Given the description of an element on the screen output the (x, y) to click on. 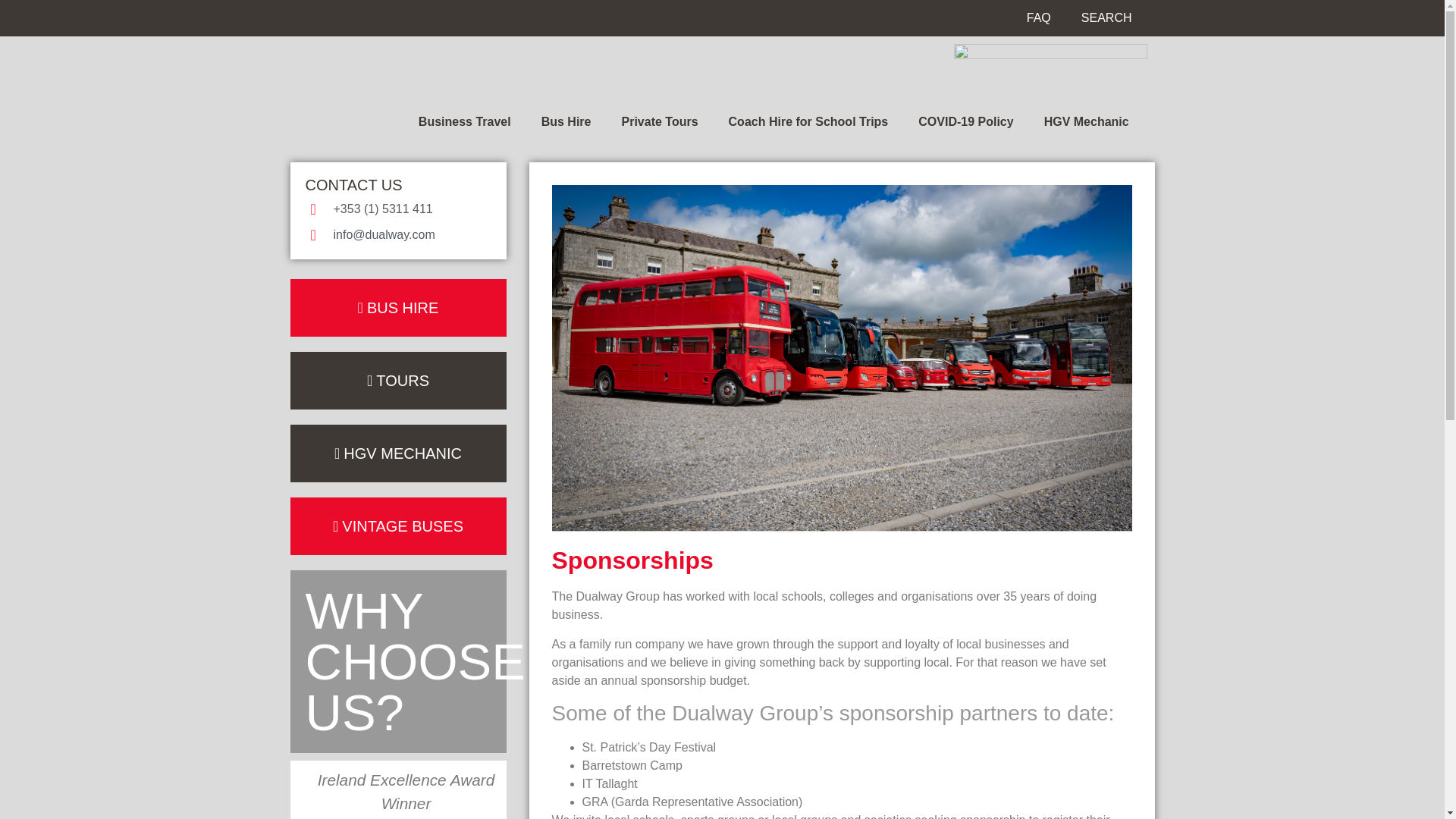
Business Travel (464, 121)
Bus Hire (566, 121)
SEARCH (1106, 17)
COVID-19 Policy (964, 121)
Private Tours (659, 121)
FAQ (1038, 17)
Coach Hire for School Trips (808, 121)
HGV Mechanic (1086, 121)
